Given the description of an element on the screen output the (x, y) to click on. 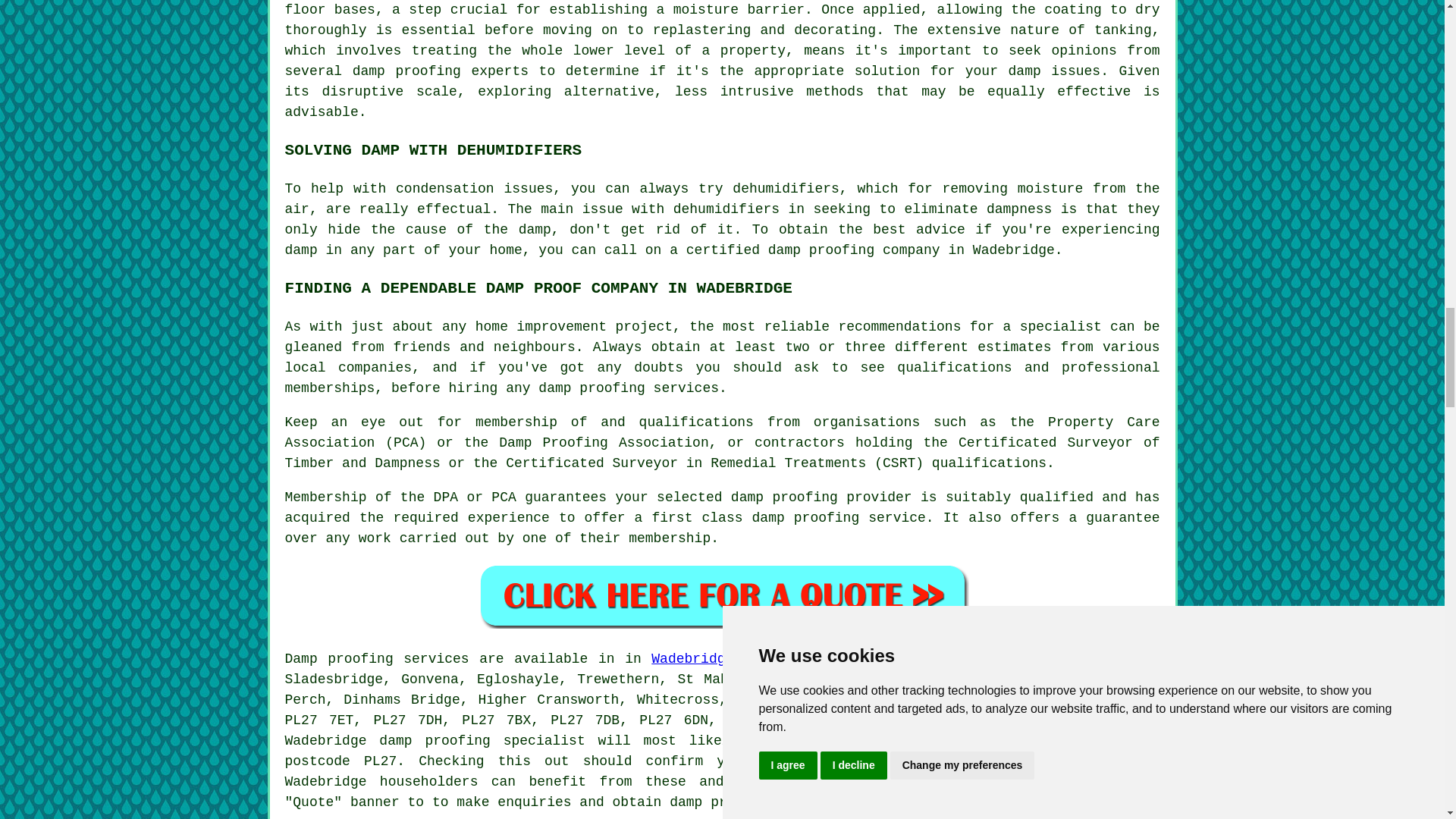
Book a Damp Proofing in Wadebridge UK (722, 595)
damp issues (1054, 70)
Damp proofing (339, 658)
services (996, 781)
damp proofing (1095, 761)
